Given the description of an element on the screen output the (x, y) to click on. 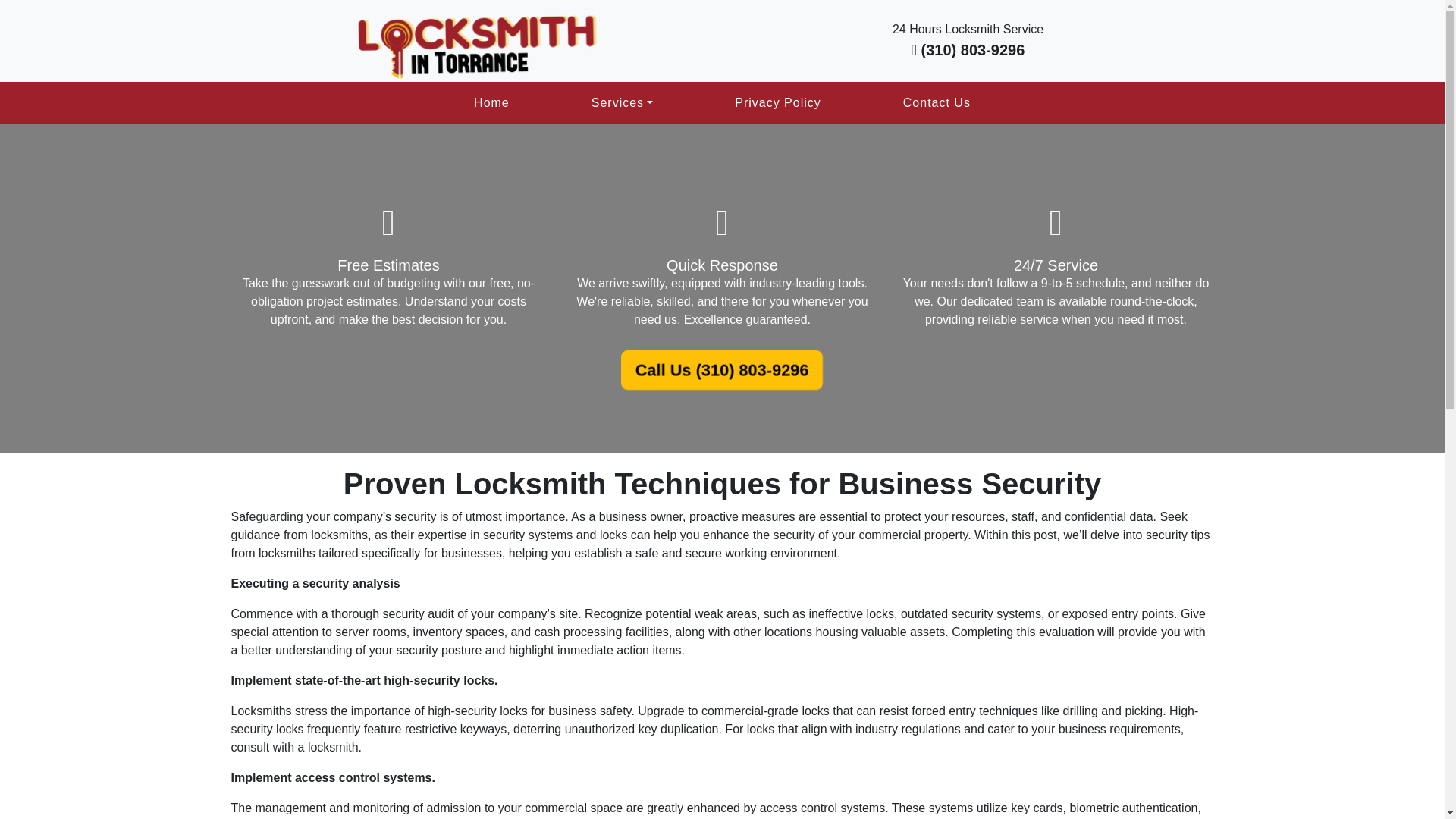
Contact Us (936, 103)
Services (621, 103)
Privacy Policy (778, 103)
Home (491, 103)
